Given the description of an element on the screen output the (x, y) to click on. 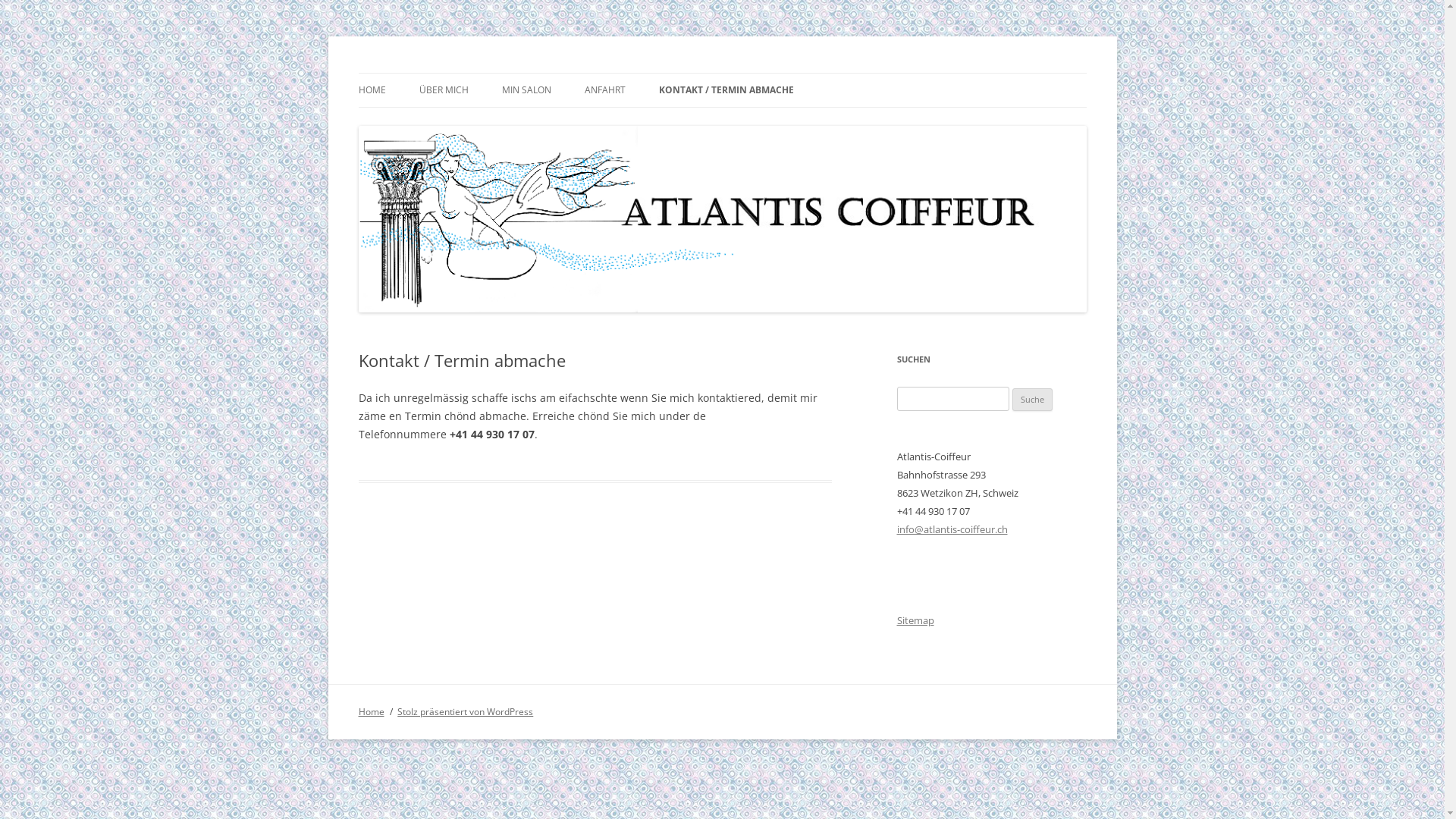
Sitemap Element type: text (914, 620)
ANFAHRT Element type: text (603, 89)
Home Element type: text (370, 711)
Suche Element type: text (1032, 399)
info@atlantis-coiffeur.ch Element type: text (951, 529)
MIN SALON Element type: text (526, 89)
HOME Element type: text (371, 89)
Zum Inhalt springen Element type: text (721, 72)
Atlantis Coiffeur Element type: text (438, 72)
KONTAKT / TERMIN ABMACHE Element type: text (725, 89)
